Given the description of an element on the screen output the (x, y) to click on. 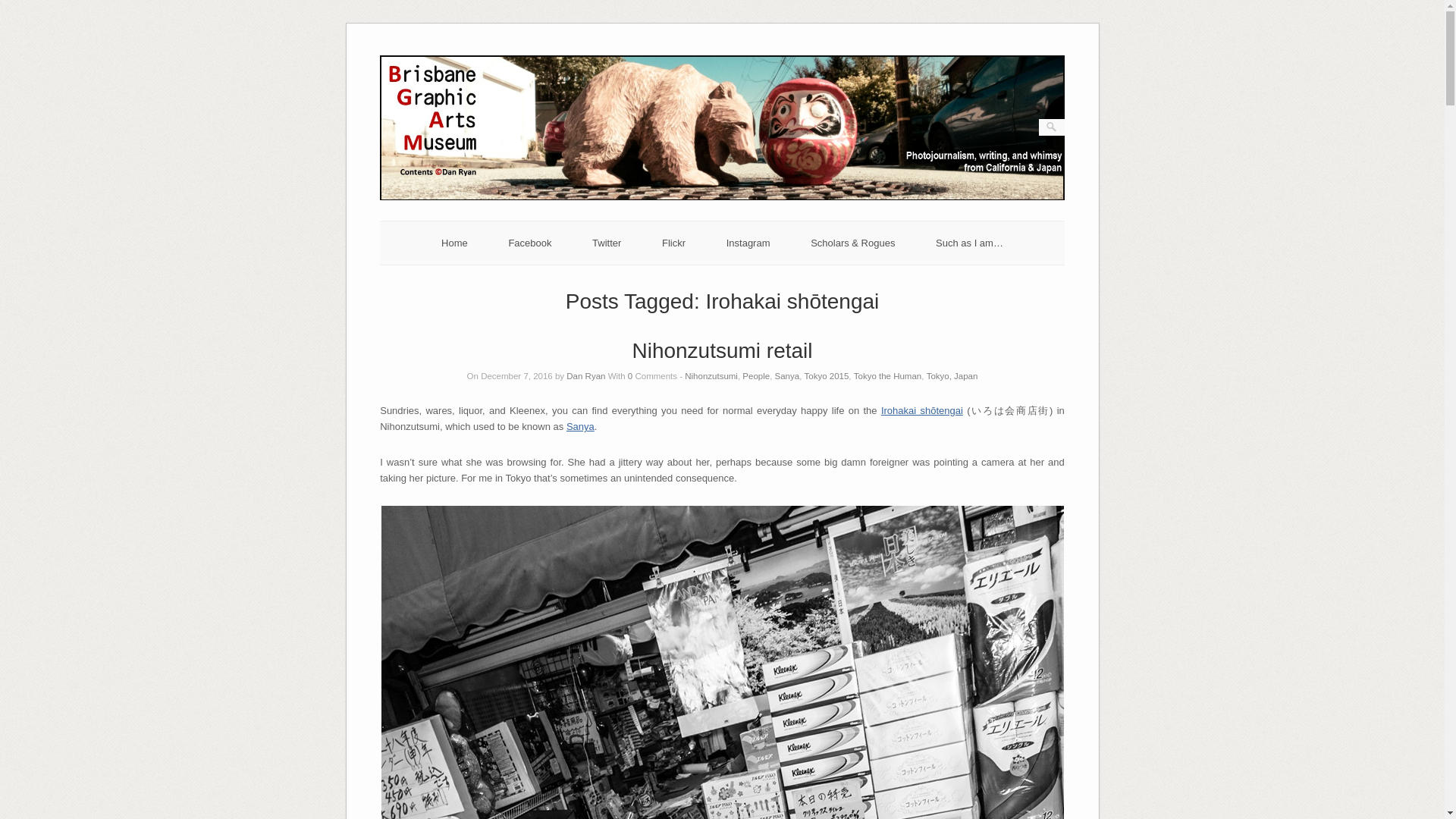
People (756, 375)
Instagram (748, 242)
Dan Ryan (585, 375)
Twitter (606, 242)
Home (454, 242)
Tokyo the Human (887, 375)
Search (21, 7)
Tokyo 2015 (826, 375)
Sanya (580, 426)
Nihonzutsumi (711, 375)
Sanya (786, 375)
Facebook (529, 242)
Flickr (673, 242)
